Given the description of an element on the screen output the (x, y) to click on. 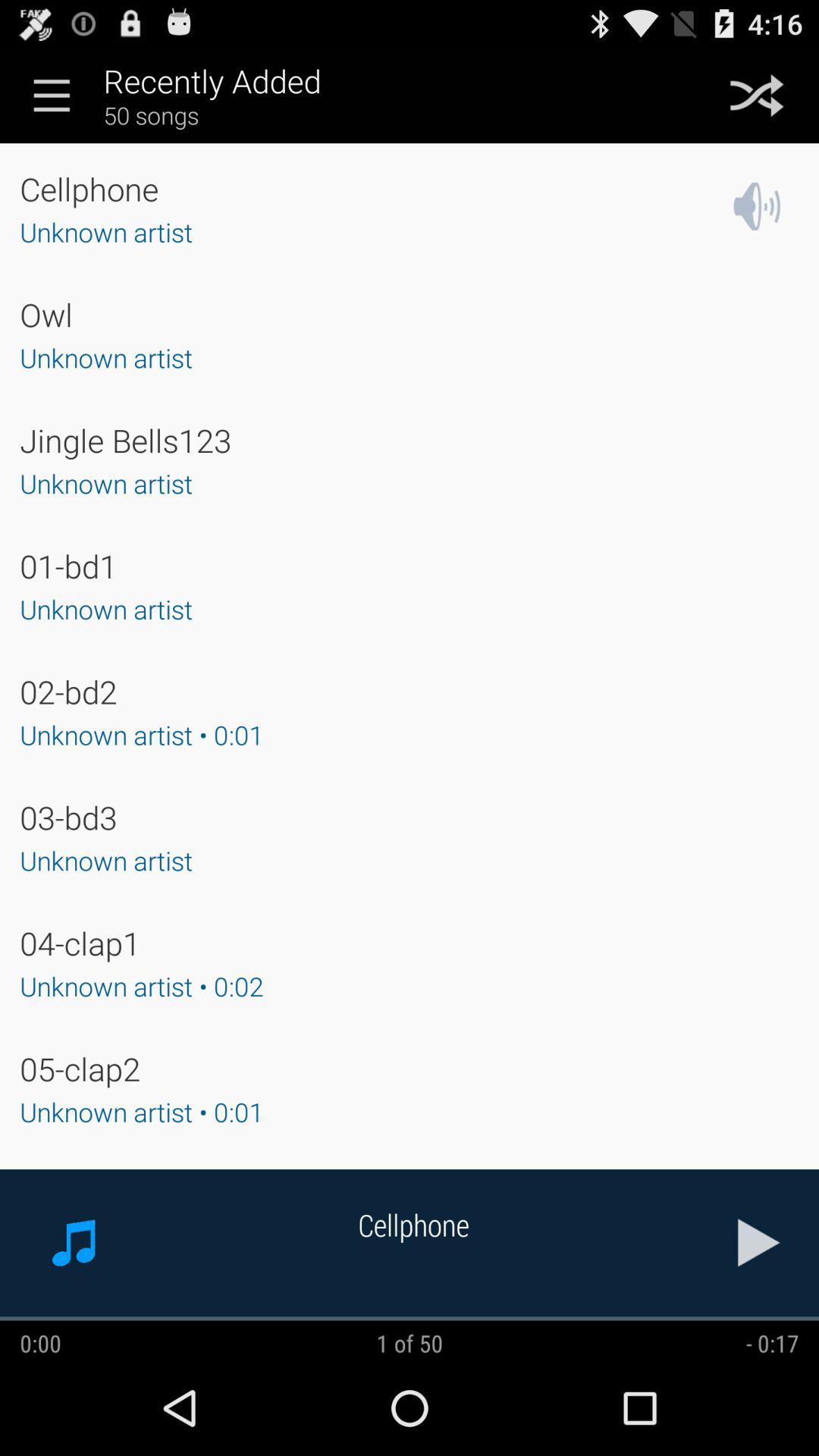
tap the 02-bd2 icon (68, 691)
